Given the description of an element on the screen output the (x, y) to click on. 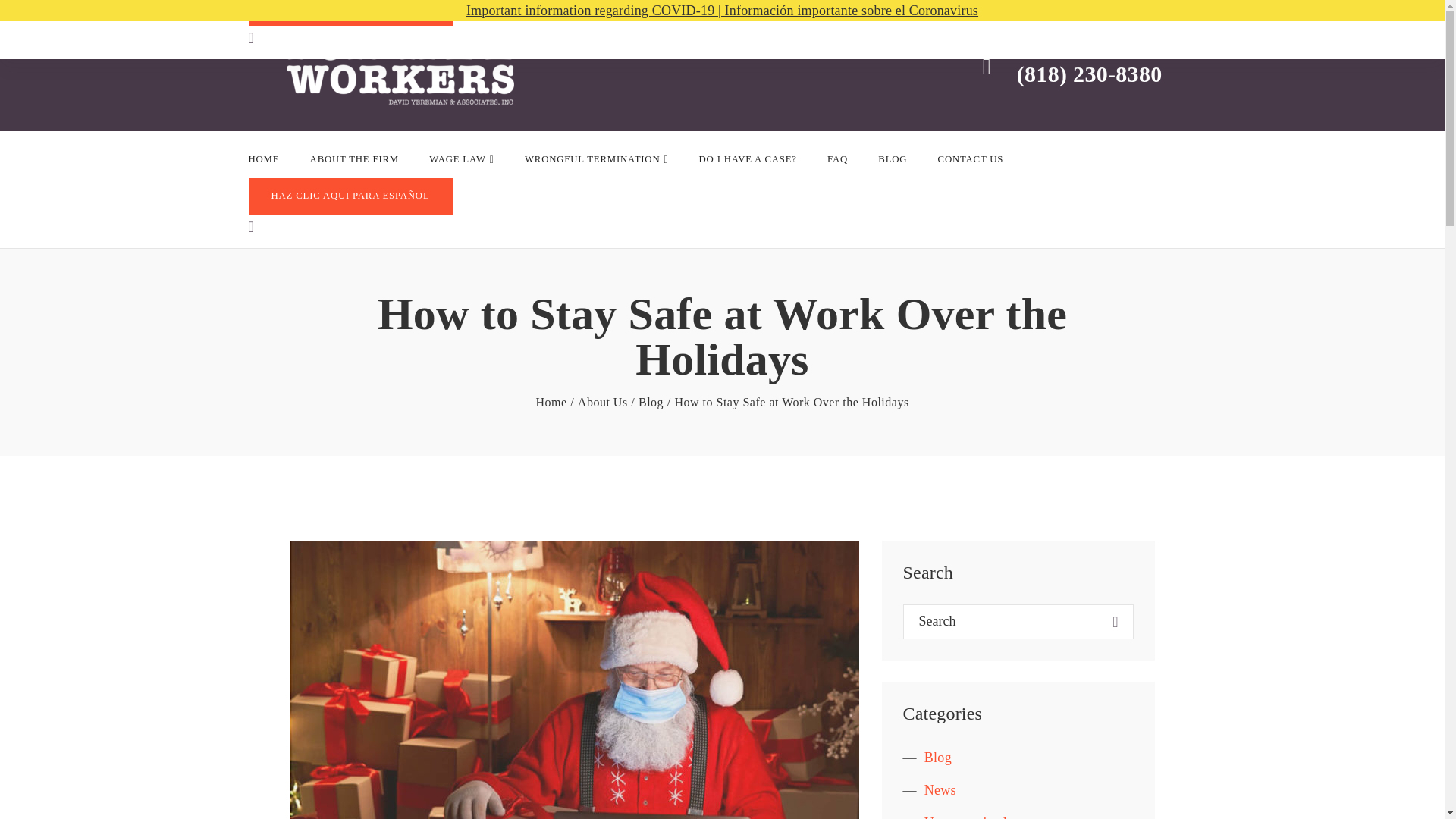
WAGE LAW (462, 159)
For All Workers (550, 402)
For All Workers - We're Not Scared of Your Boss (380, 65)
WRONGFUL TERMINATION (596, 159)
HOME (263, 159)
ABOUT THE FIRM (354, 159)
About Us (602, 402)
